Given the description of an element on the screen output the (x, y) to click on. 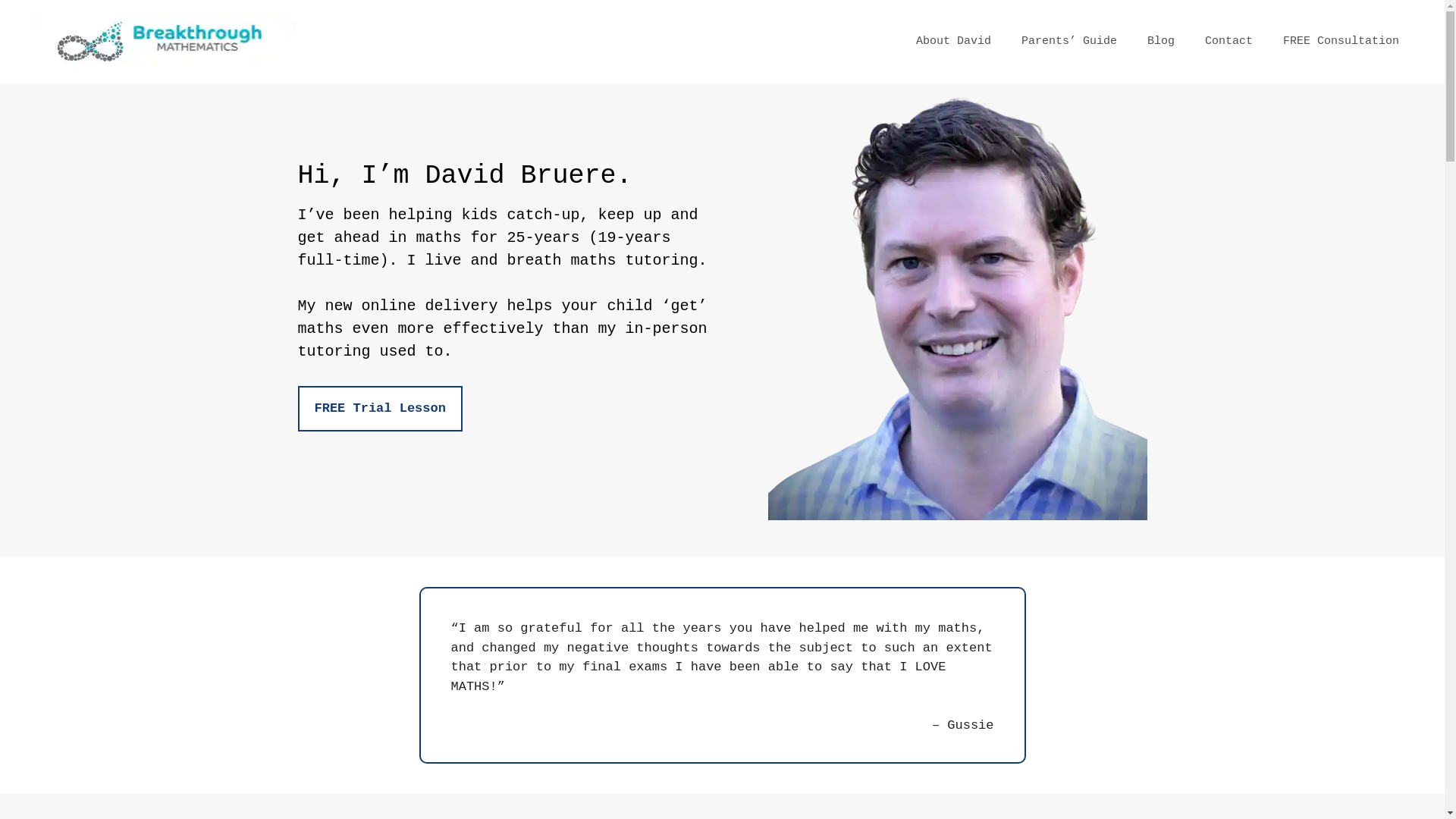
Contact Element type: text (1228, 41)
Blog Element type: text (1160, 41)
Breakthrough Mathematics Element type: hover (162, 41)
FREE Trial Lesson Element type: text (379, 408)
FREE Consultation Element type: text (1340, 41)
Breakthrough Mathematics Element type: hover (162, 41)
About David Element type: text (953, 41)
